Given the description of an element on the screen output the (x, y) to click on. 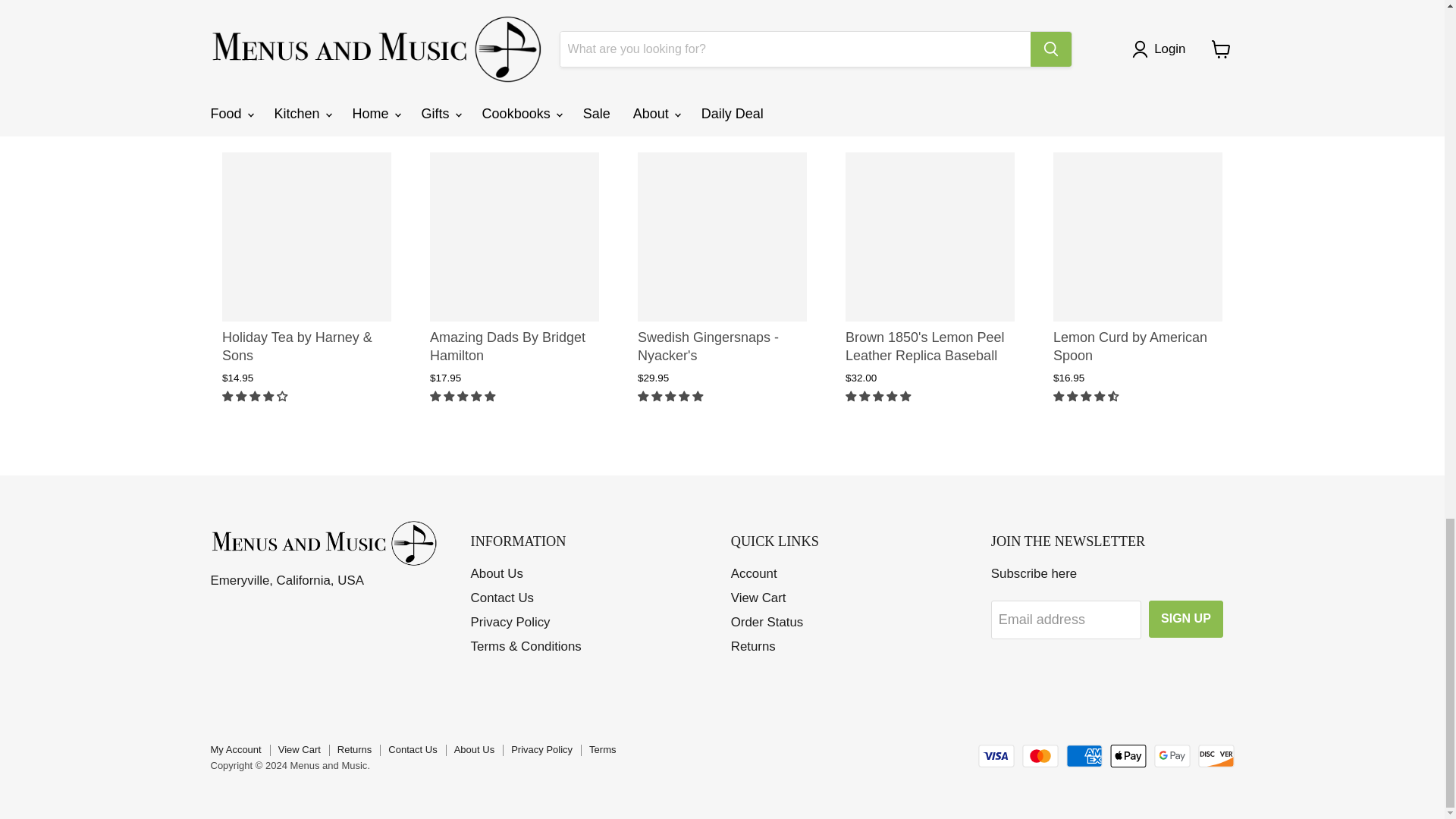
Discover (1216, 755)
Mastercard (1040, 755)
Apple Pay (1128, 755)
American Express (1083, 755)
Google Pay (1172, 755)
Visa (996, 755)
